Given the description of an element on the screen output the (x, y) to click on. 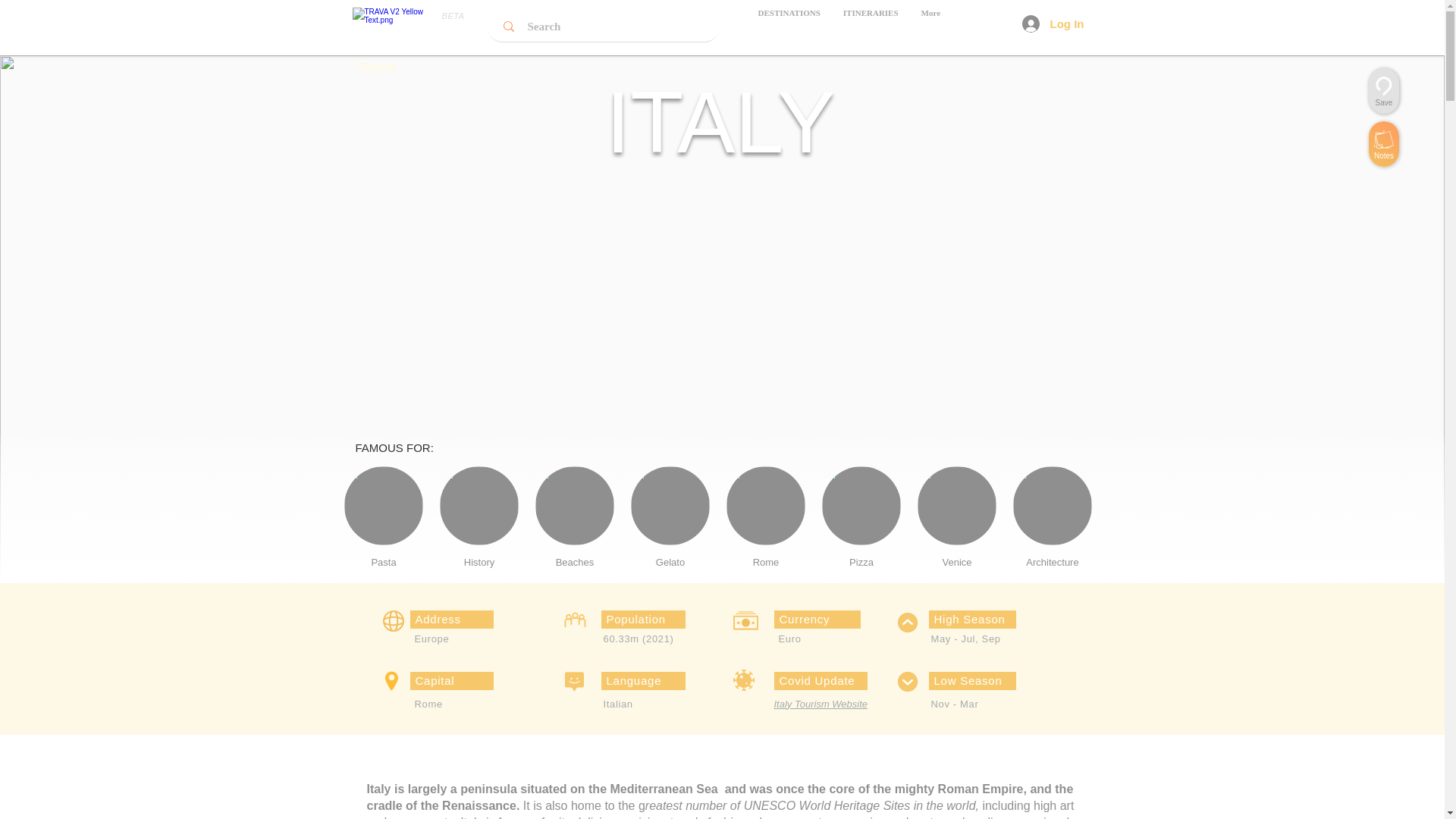
Europe (720, 527)
ITINERARIES (377, 65)
Log In (870, 26)
Italy Tourism Website (720, 527)
BETA (1052, 23)
